Given the description of an element on the screen output the (x, y) to click on. 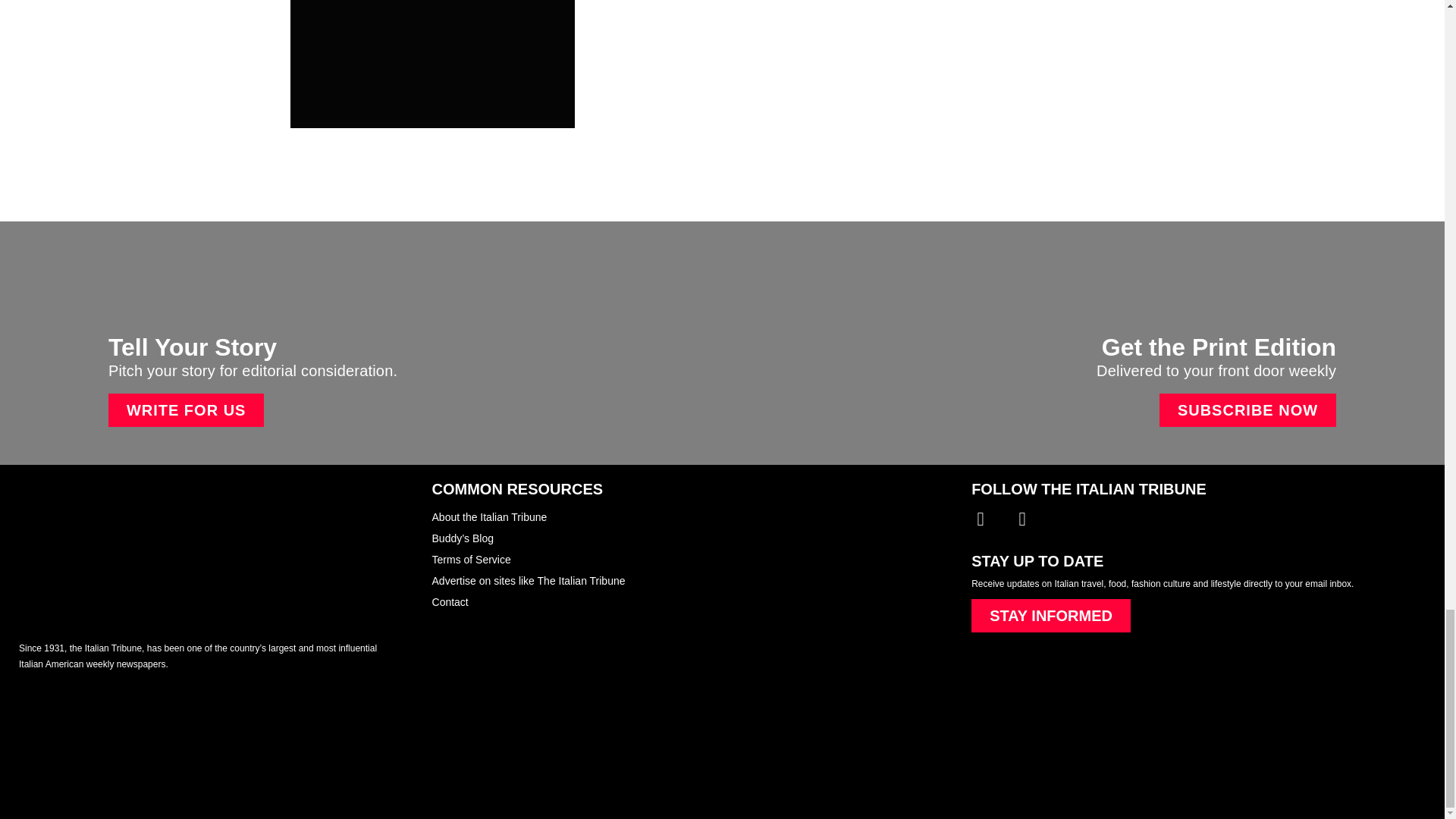
Aitken-Media-Logo-Light.png (111, 754)
